Given the description of an element on the screen output the (x, y) to click on. 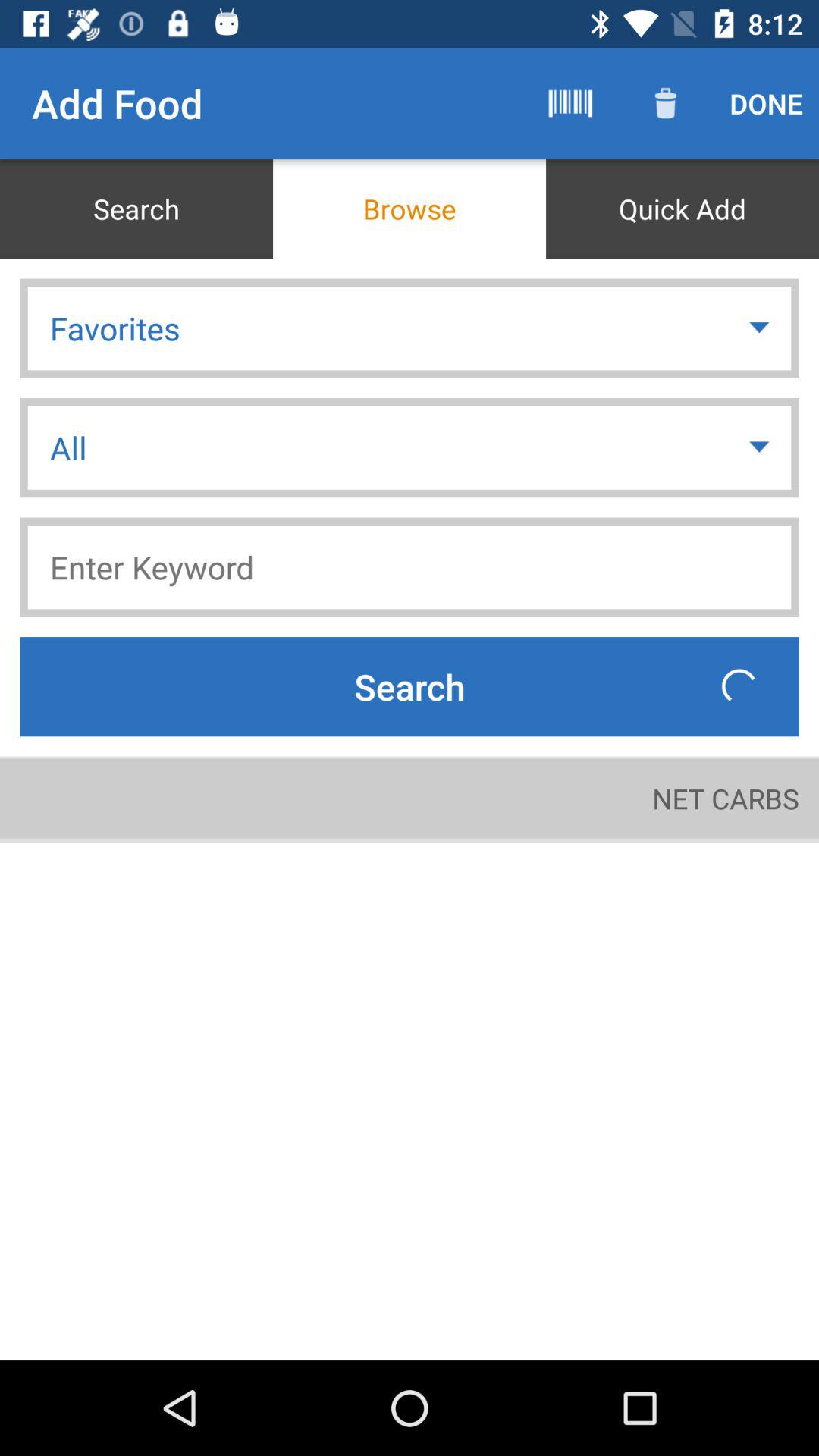
select the item below search item (725, 798)
